Given the description of an element on the screen output the (x, y) to click on. 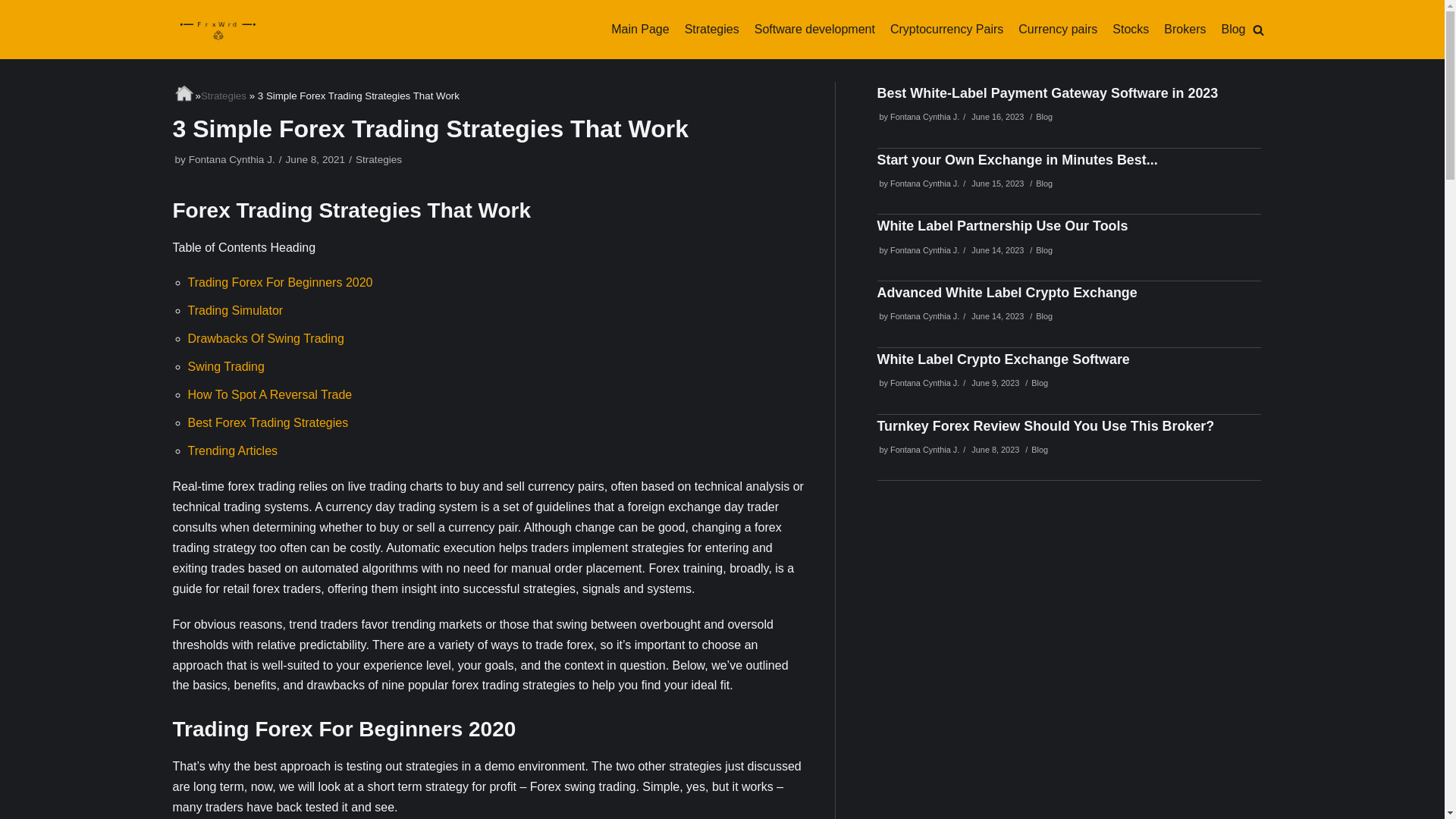
Stocks (1130, 29)
Software development (814, 29)
Trading Simulator (235, 309)
Posts by Fontana Cynthia J. (924, 249)
Strategies (378, 159)
Fontana Cynthia J. (924, 183)
Start your Own Exchange in Minutes Best... (1016, 159)
Posts by Fontana Cynthia J. (924, 183)
How To Spot A Reversal Trade (269, 394)
Posts by Fontana Cynthia J. (924, 382)
Main Page (640, 29)
Posts by Fontana Cynthia J. (232, 159)
Brokers (1184, 29)
Posts by Fontana Cynthia J. (924, 316)
Best Forex Trading Strategies (268, 422)
